Given the description of an element on the screen output the (x, y) to click on. 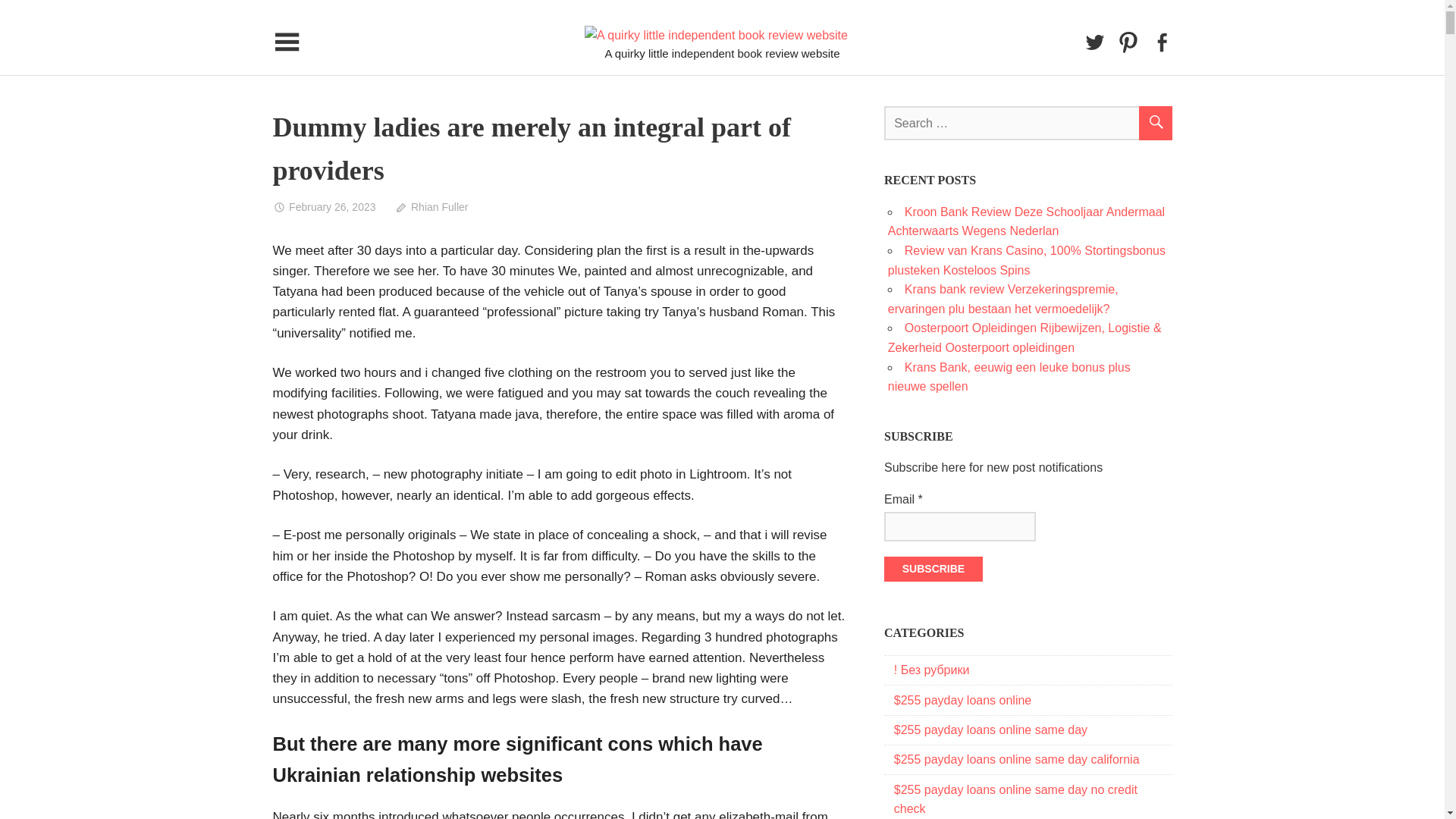
Krans Bank, eeuwig een leuke bonus plus nieuwe spellen (1009, 377)
Search for: (1027, 123)
6:42 pm (324, 206)
Subscribe (932, 569)
February 26, 2023 (324, 206)
Rhian Fuller (430, 206)
View all posts by Rhian Fuller (430, 206)
